Given the description of an element on the screen output the (x, y) to click on. 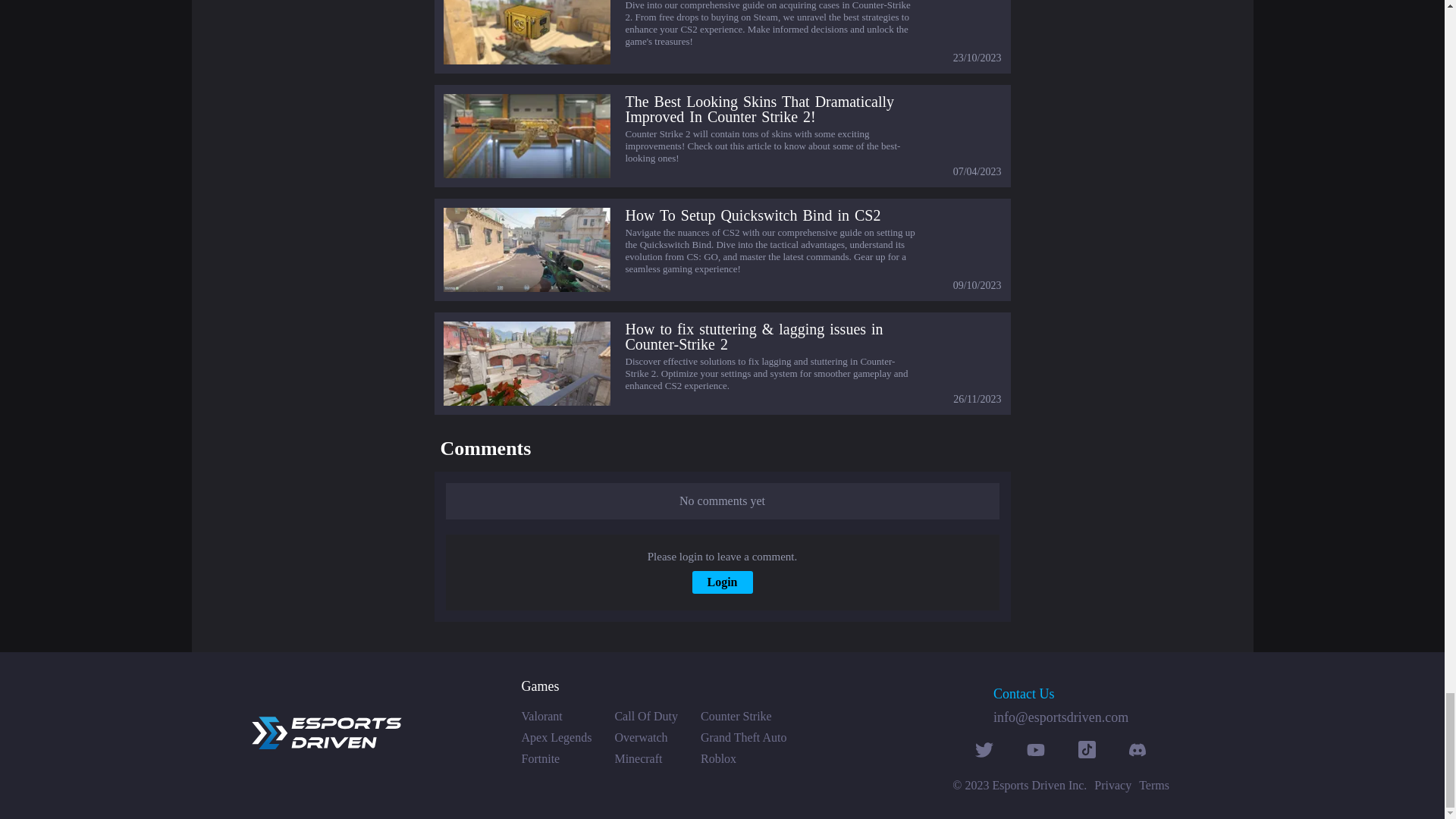
Overwatch (646, 737)
Roblox (743, 758)
Valorant (556, 716)
Minecraft (646, 758)
Fortnite (556, 758)
Grand Theft Auto (743, 737)
Apex Legends (556, 737)
Counter Strike (743, 716)
Privacy (1112, 785)
Call Of Duty (646, 716)
